Given the description of an element on the screen output the (x, y) to click on. 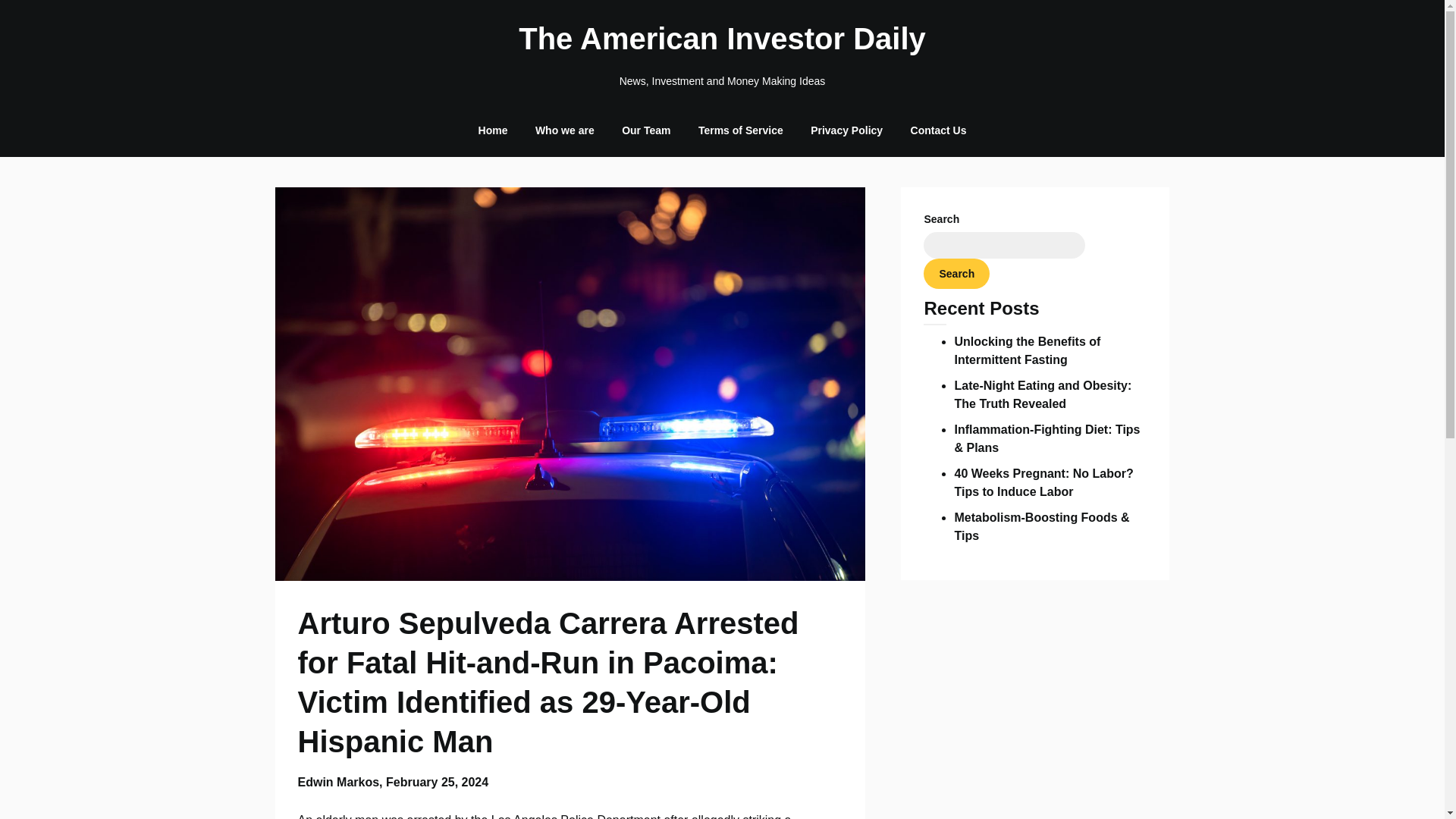
Contact Us (938, 130)
The American Investor Daily (722, 38)
40 Weeks Pregnant: No Labor? Tips to Induce Labor (1042, 481)
Privacy Policy (846, 130)
Home (492, 130)
Unlocking the Benefits of Intermittent Fasting (1026, 350)
Search (956, 273)
Late-Night Eating and Obesity: The Truth Revealed (1042, 394)
Terms of Service (739, 130)
February 25, 2024 (436, 781)
Our Team (646, 130)
Who we are (564, 130)
